Given the description of an element on the screen output the (x, y) to click on. 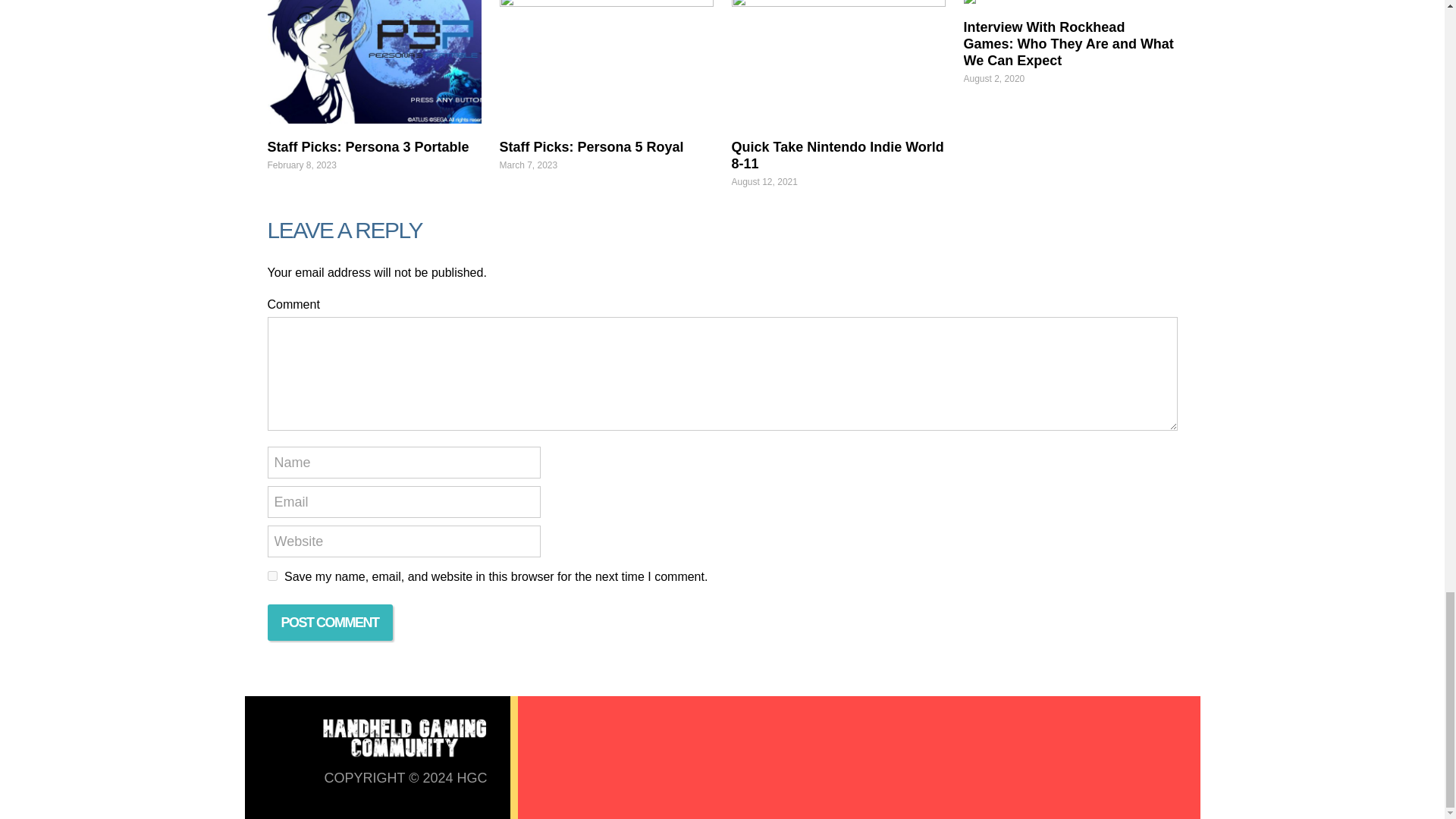
Staff Picks: Persona 5 Royal (590, 146)
Staff Picks: Persona 3 Portable (373, 61)
Quick Take Nintendo Indie World 8-11 (836, 155)
yes (271, 575)
Post Comment (328, 622)
Quick Take Nintendo Indie World 8-11 (837, 61)
Staff Picks: Persona 5 Royal (606, 61)
Staff Picks: Persona 3 Portable (367, 146)
Staff Picks: Persona 3 Portable (367, 146)
